Given the description of an element on the screen output the (x, y) to click on. 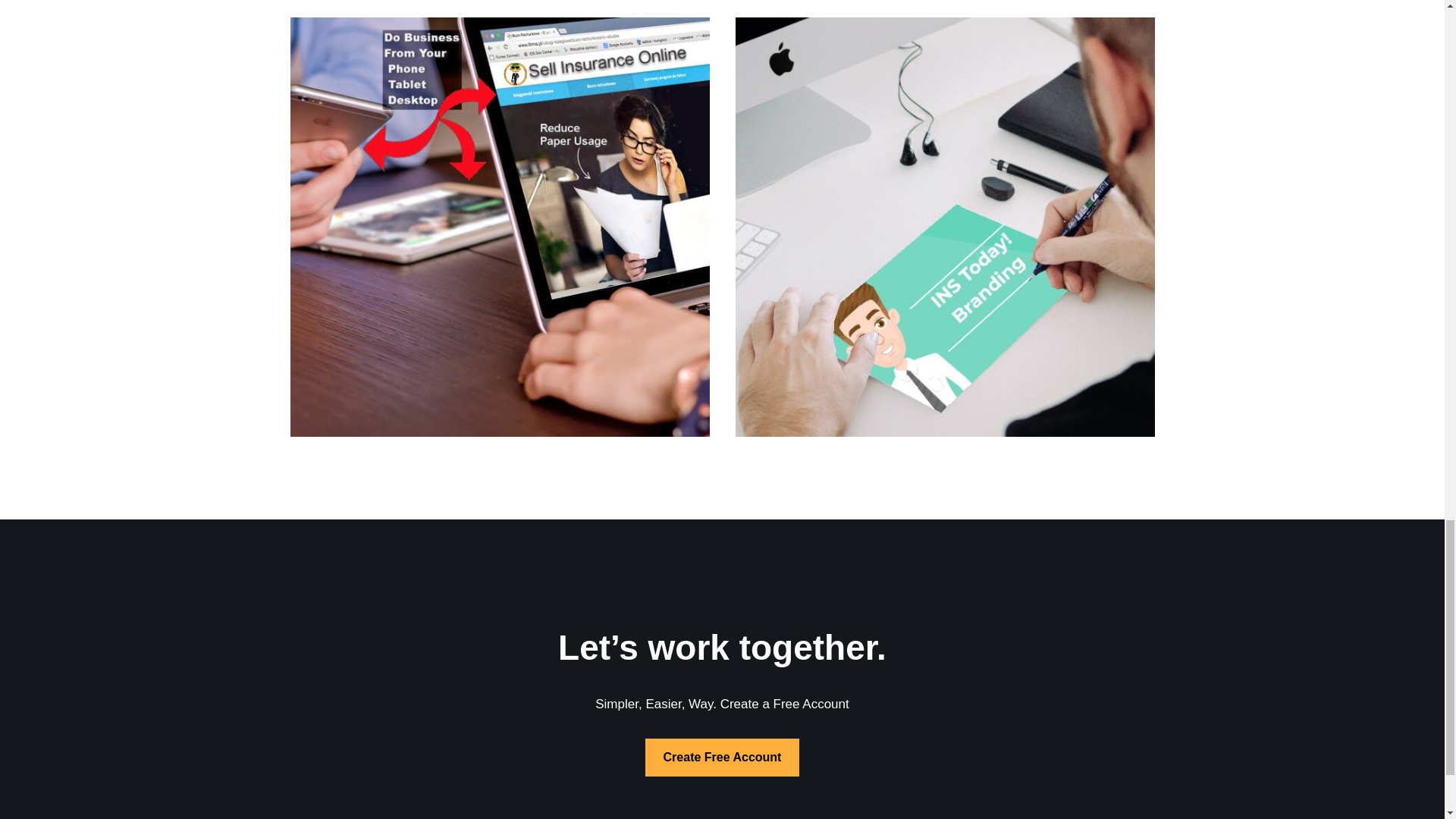
Create Free Account (722, 757)
